Given the description of an element on the screen output the (x, y) to click on. 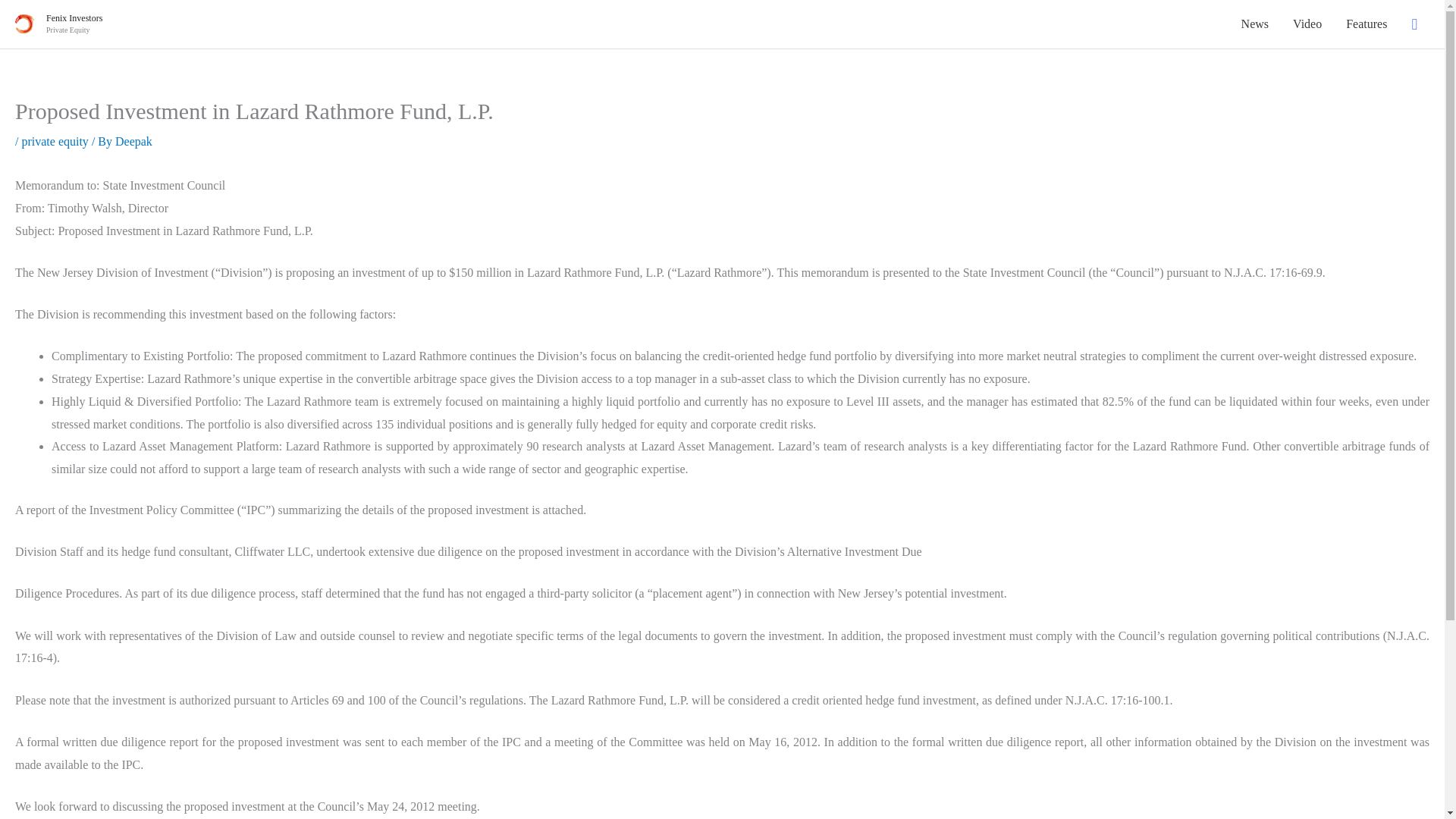
Fenix Investors (73, 18)
Video (1307, 24)
Features (1366, 24)
Deepak (133, 141)
private equity (54, 141)
View all posts by Deepak (133, 141)
News (1254, 24)
